Given the description of an element on the screen output the (x, y) to click on. 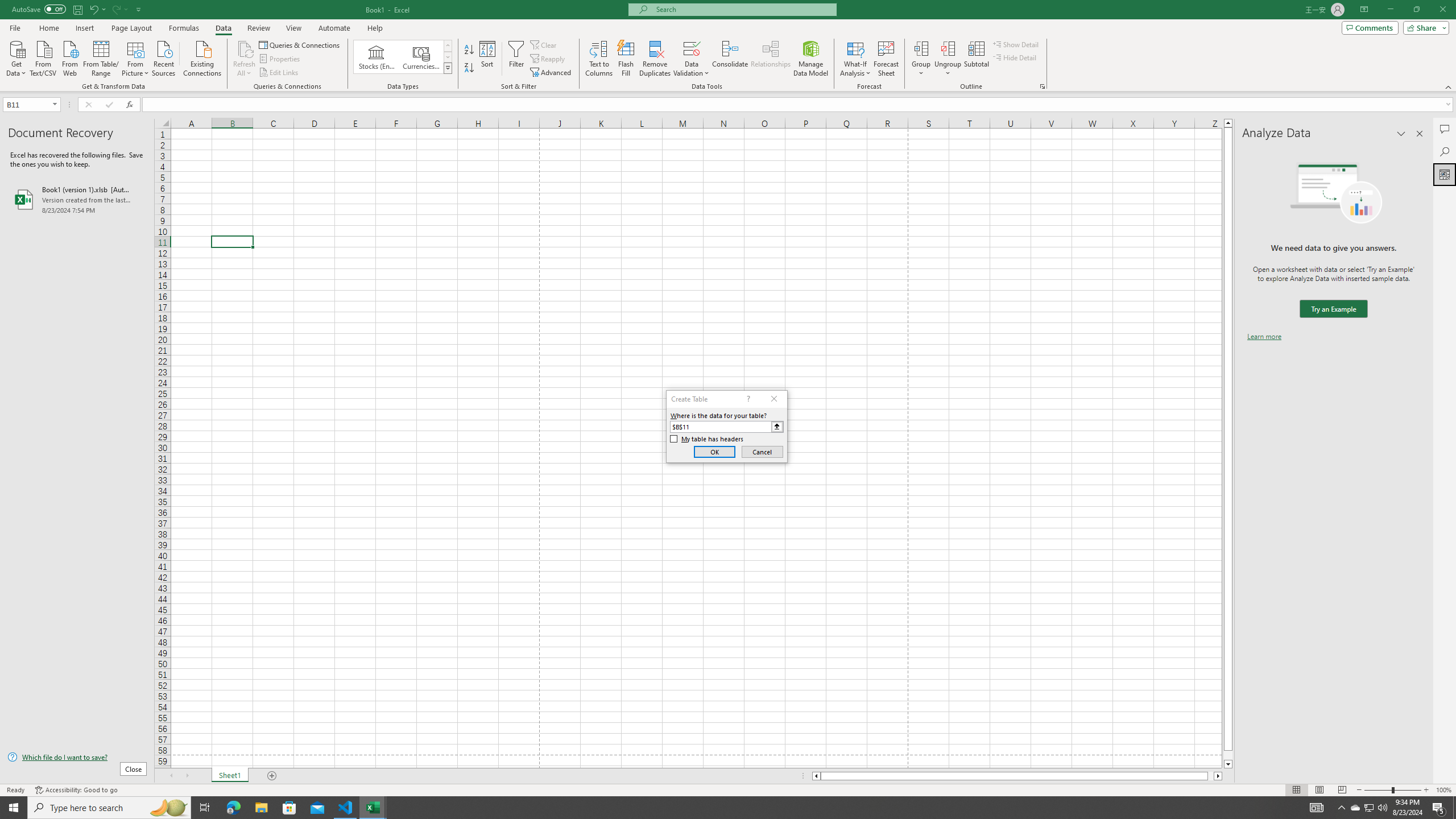
Advanced... (551, 72)
Scroll Right (187, 775)
Zoom Out (1377, 790)
Sort A to Z (469, 49)
Edit Links (279, 72)
From Picture (135, 57)
We need data to give you answers. Try an Example (1333, 308)
Line up (1228, 122)
Flash Fill (625, 58)
Line down (1228, 764)
Which file do I want to save? (77, 757)
Quick Access Toolbar (77, 9)
